Given the description of an element on the screen output the (x, y) to click on. 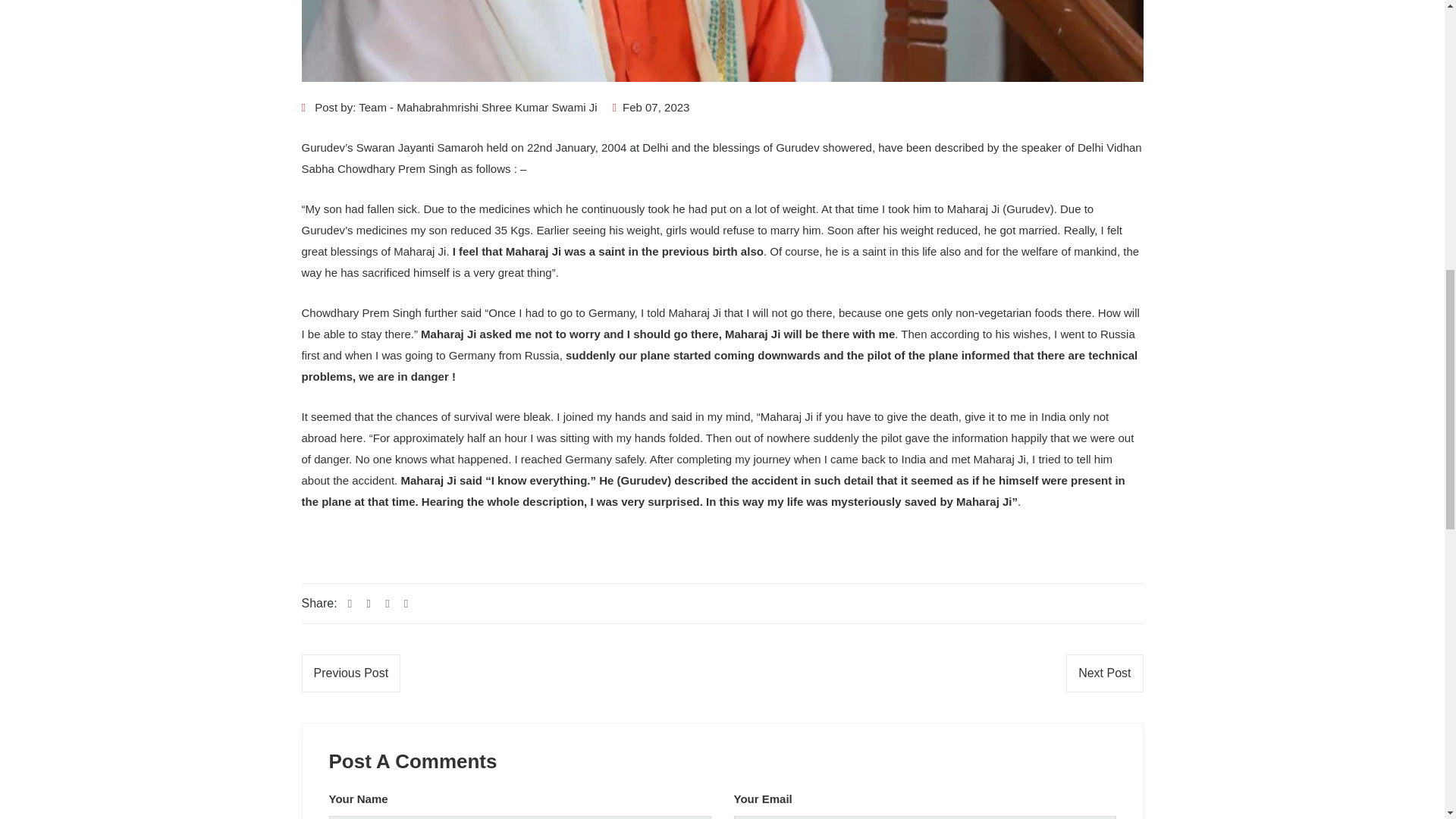
Previous Post (351, 673)
Next Post (1103, 673)
Team - Mahabrahmrishi Shree Kumar Swami Ji (477, 106)
